Given the description of an element on the screen output the (x, y) to click on. 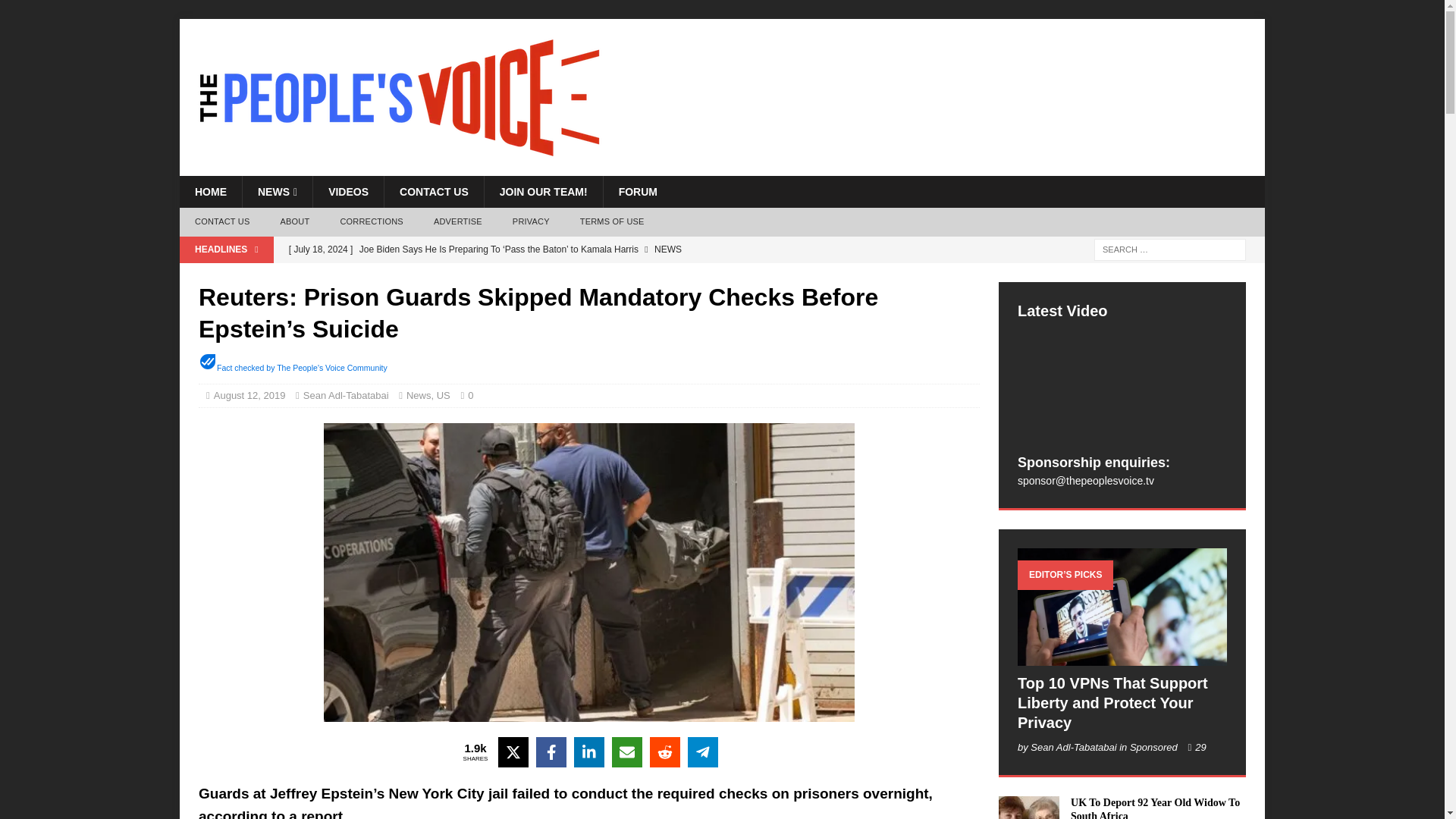
TERMS OF USE (611, 222)
CONTACT US (433, 192)
VIDEOS (348, 192)
CONTACT US (221, 222)
Republicans Urge Kamala Harris To Announce VP Pick (583, 275)
JOIN OUR TEAM! (542, 192)
HOME (210, 192)
PRIVACY (530, 222)
ABOUT (294, 222)
ADVERTISE (458, 222)
NEWS (277, 192)
CORRECTIONS (370, 222)
FORUM (637, 192)
